Given the description of an element on the screen output the (x, y) to click on. 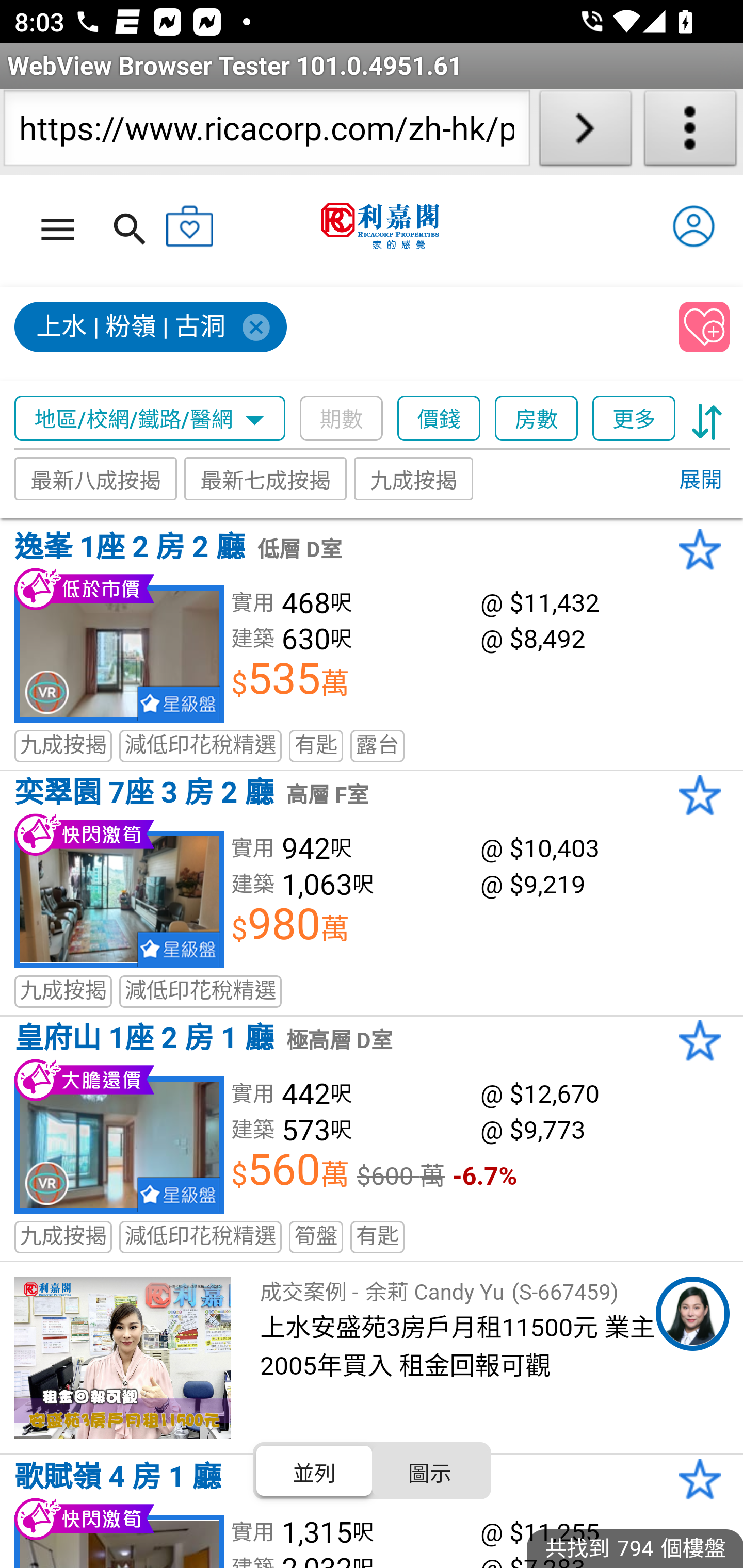
Load URL (585, 132)
About WebView (690, 132)
上水 | 粉嶺 | 古洞 (151, 327)
save (705, 327)
地區/校網/鐵路/醫網 (150, 418)
期數 (341, 418)
價錢 (439, 418)
房數 (536, 418)
更多 (634, 418)
sort (706, 418)
最新八成按揭 (96, 478)
最新七成按揭 (266, 478)
九成按揭 (413, 478)
展開 (699, 481)
Candy Yu (692, 1313)
並列 (314, 1470)
圖示 (429, 1470)
